Given the description of an element on the screen output the (x, y) to click on. 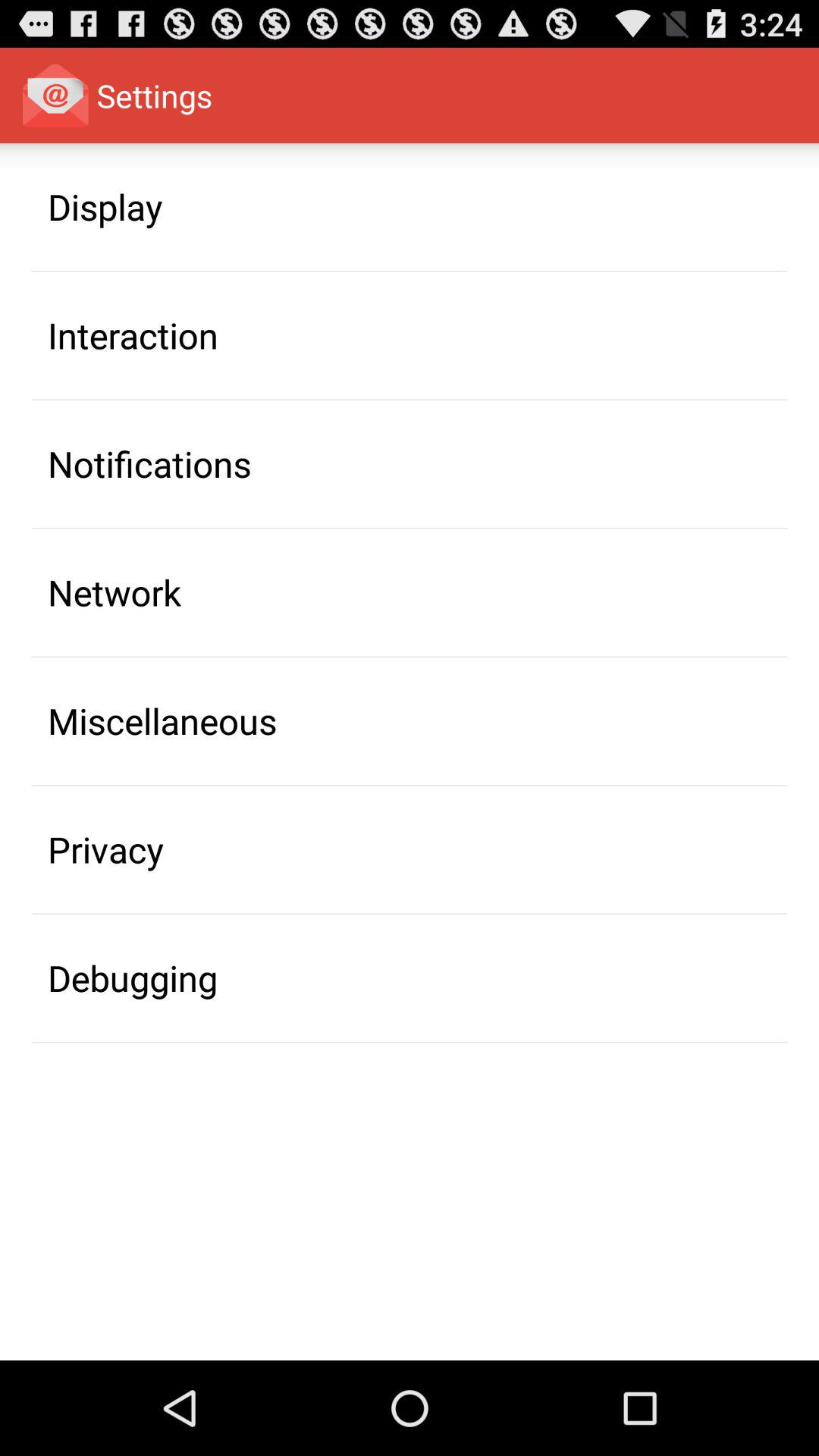
click the privacy (105, 849)
